Given the description of an element on the screen output the (x, y) to click on. 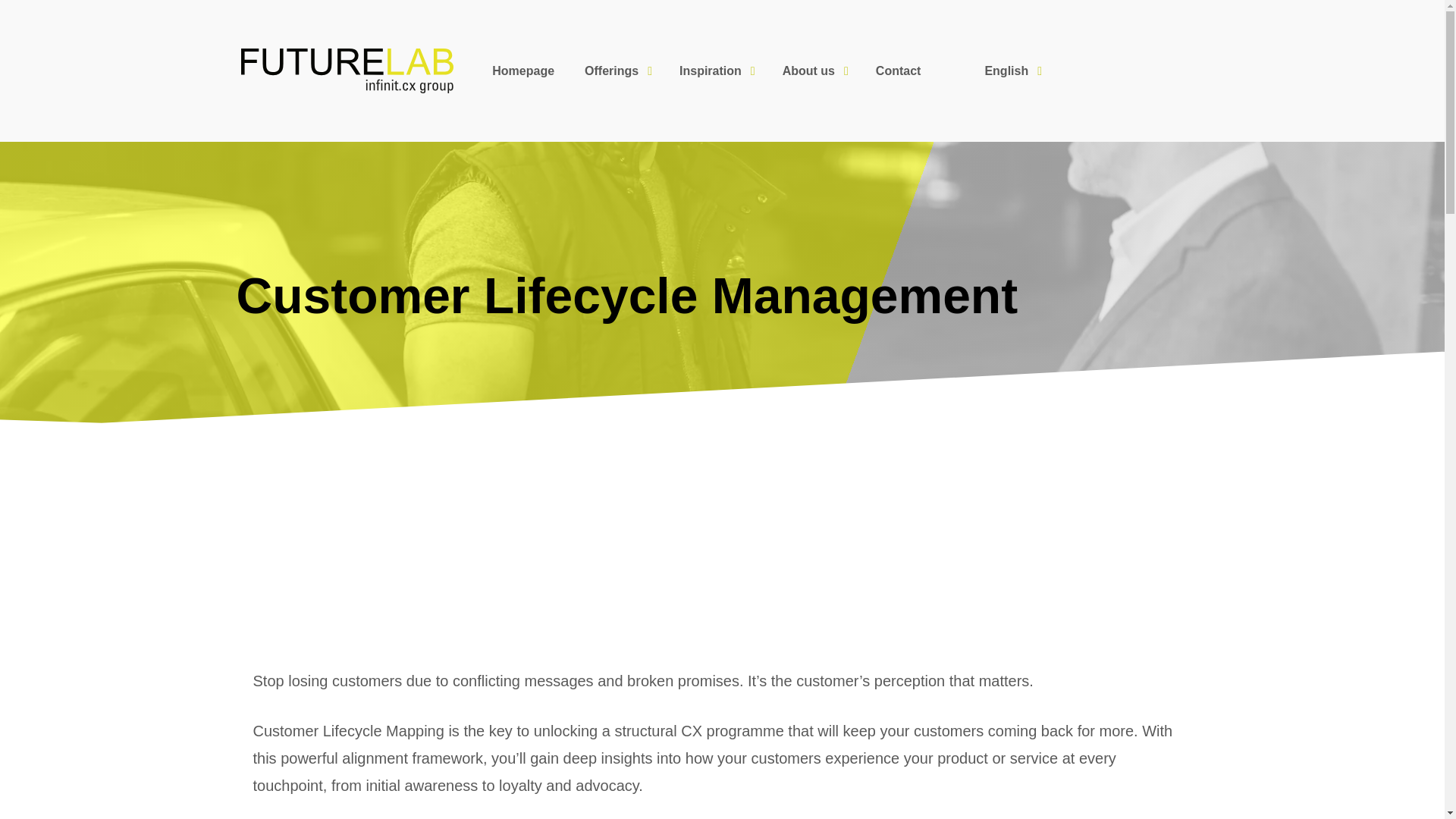
English (980, 70)
Contact (898, 70)
Inspiration (715, 70)
English (980, 70)
About us (813, 70)
Homepage (523, 70)
Offerings (616, 70)
